Given the description of an element on the screen output the (x, y) to click on. 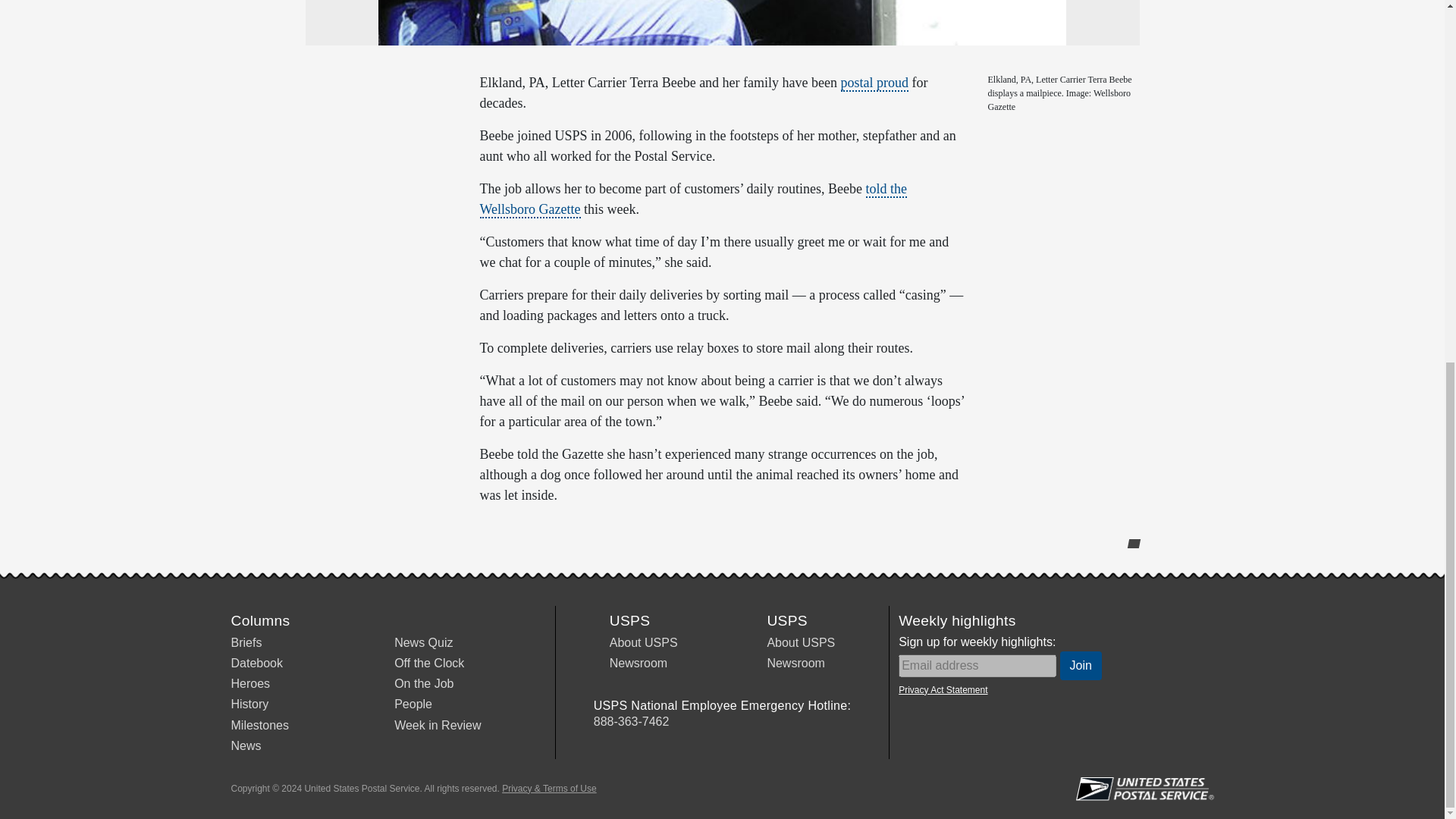
About USPS (644, 642)
postal proud (874, 83)
Week in Review (437, 725)
News Quiz (423, 642)
History (248, 703)
Datebook (256, 662)
Heroes (249, 683)
told the Wellsboro Gazette (693, 199)
On the Job (423, 683)
People (413, 703)
Milestones (259, 725)
About USPS (800, 642)
News (245, 745)
Newsroom (638, 662)
Newsroom (795, 662)
